Given the description of an element on the screen output the (x, y) to click on. 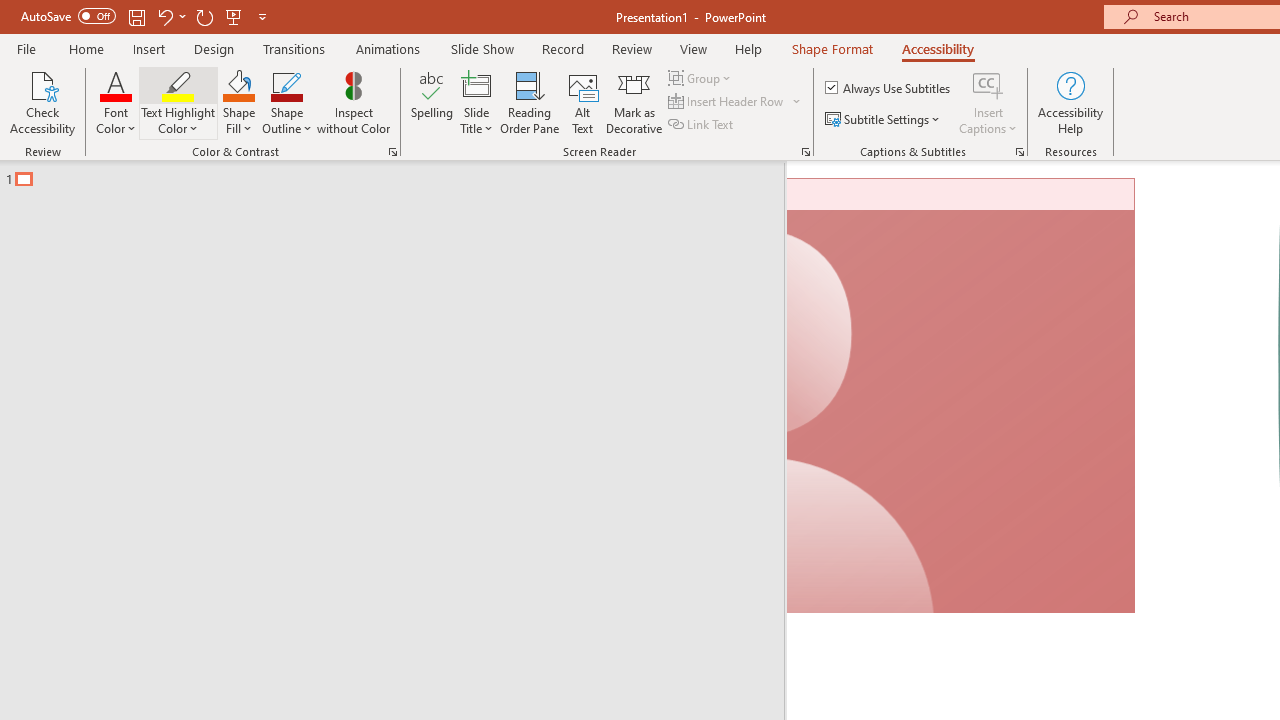
Subtitle Settings (884, 119)
Captions & Subtitles (1019, 151)
